Given the description of an element on the screen output the (x, y) to click on. 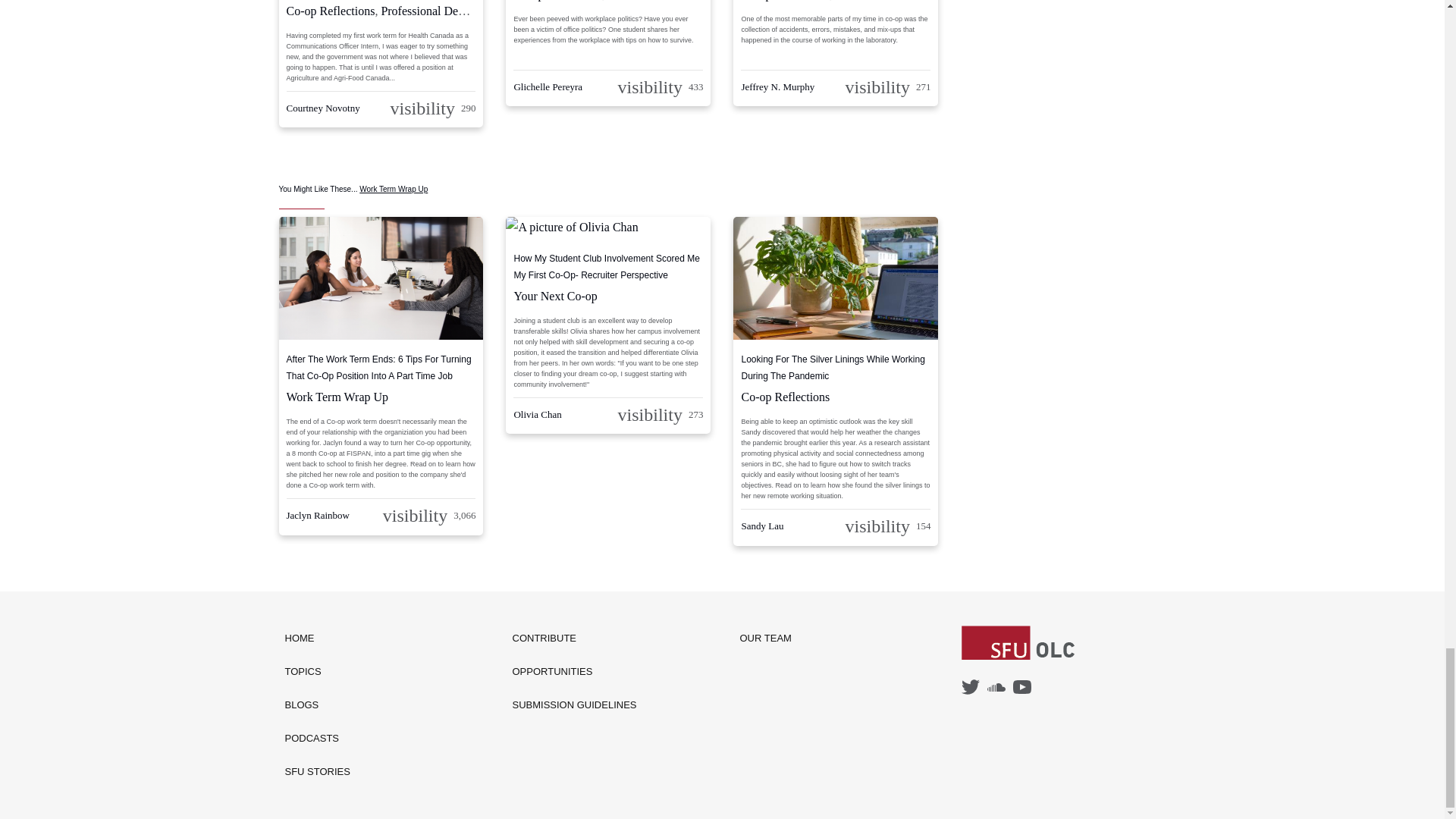
Contribute to the OLC (574, 638)
OLC Blogs (317, 704)
